Given the description of an element on the screen output the (x, y) to click on. 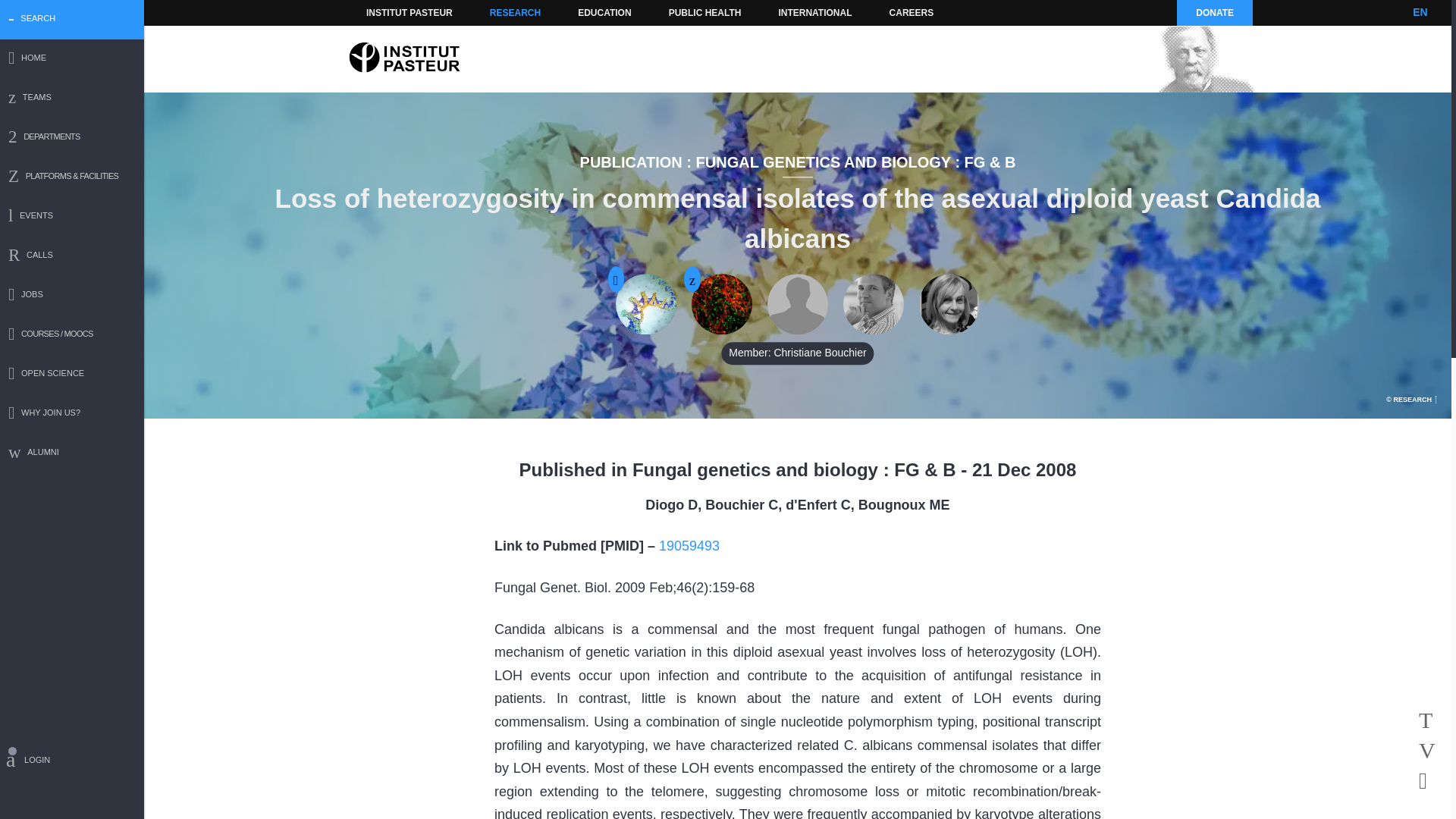
TEAMS (72, 98)
Skip to content (387, 11)
LOGIN (72, 762)
DONATE (1214, 12)
INSTITUT PASTEUR (409, 12)
JOBS (72, 296)
EVENTS (72, 217)
INTERNATIONAL (814, 12)
OPEN SCIENCE (72, 374)
PUBLIC HEALTH (705, 12)
WHY JOIN US? (72, 413)
DEPARTMENTS (72, 137)
Skip to content (387, 11)
ALUMNI (72, 454)
RESEARCH (515, 12)
